Given the description of an element on the screen output the (x, y) to click on. 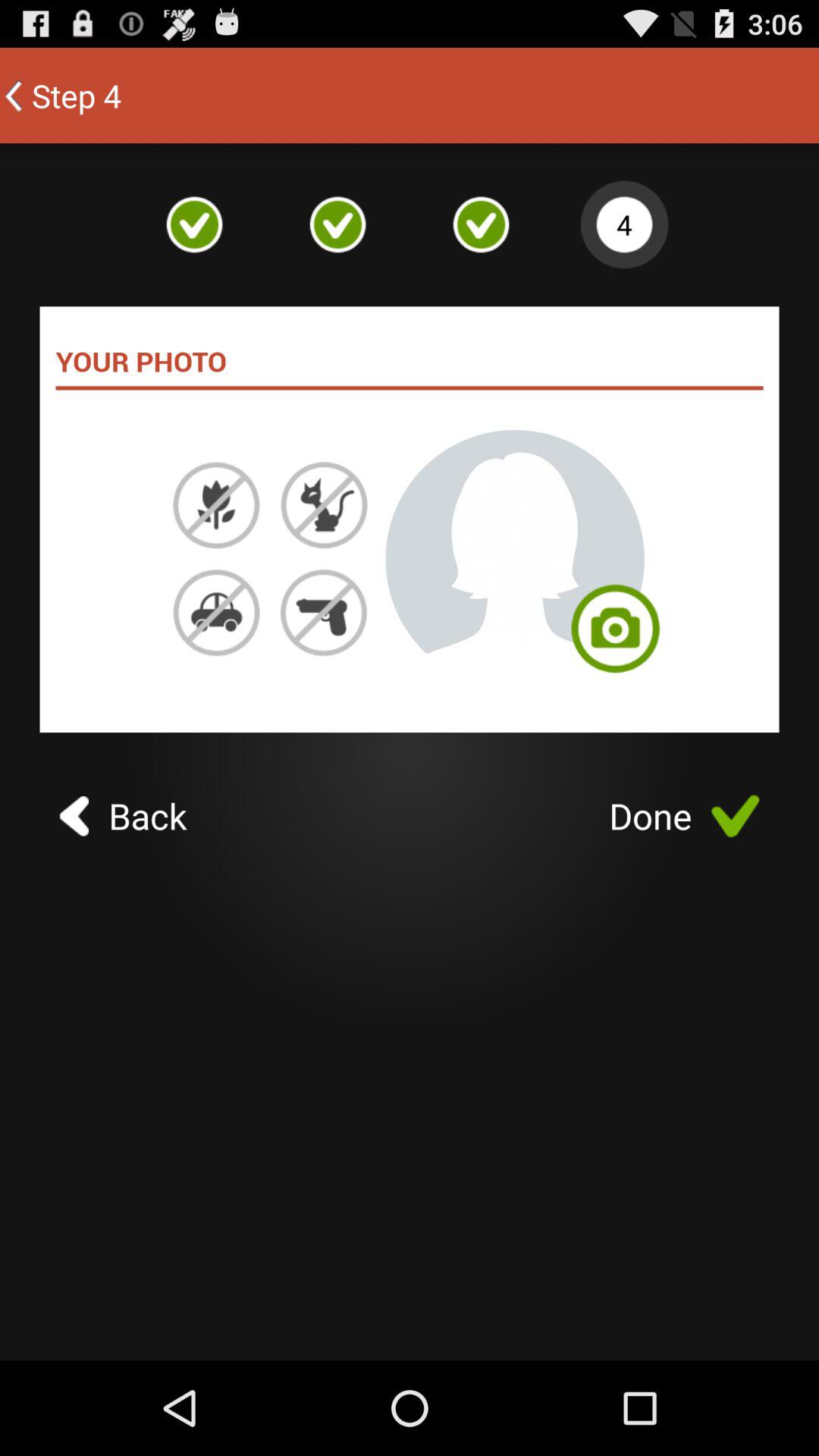
click back (123, 815)
